Given the description of an element on the screen output the (x, y) to click on. 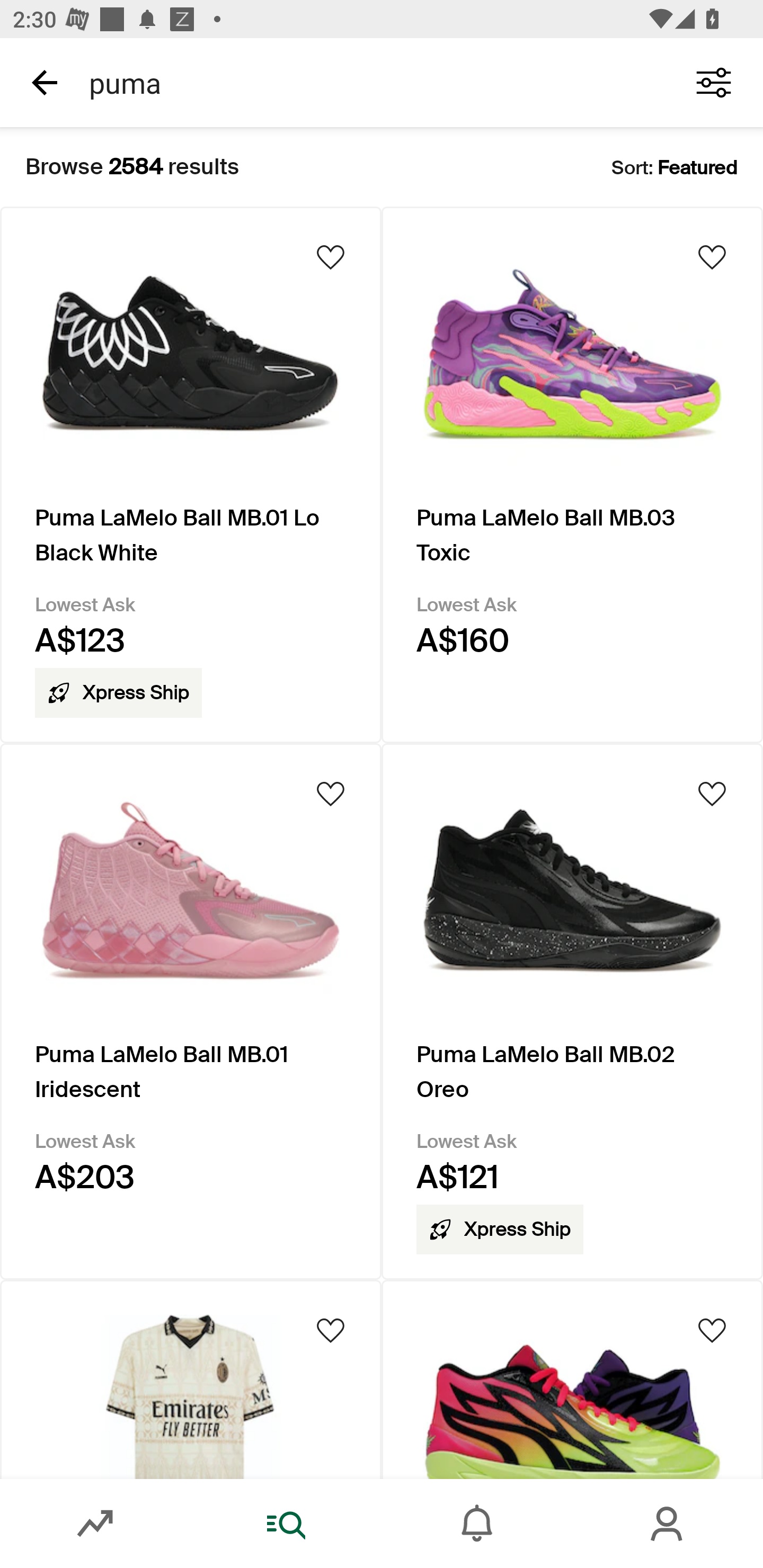
puma (370, 82)
Product Image (190, 1378)
Product Image (572, 1378)
Market (95, 1523)
Inbox (476, 1523)
Account (667, 1523)
